Given the description of an element on the screen output the (x, y) to click on. 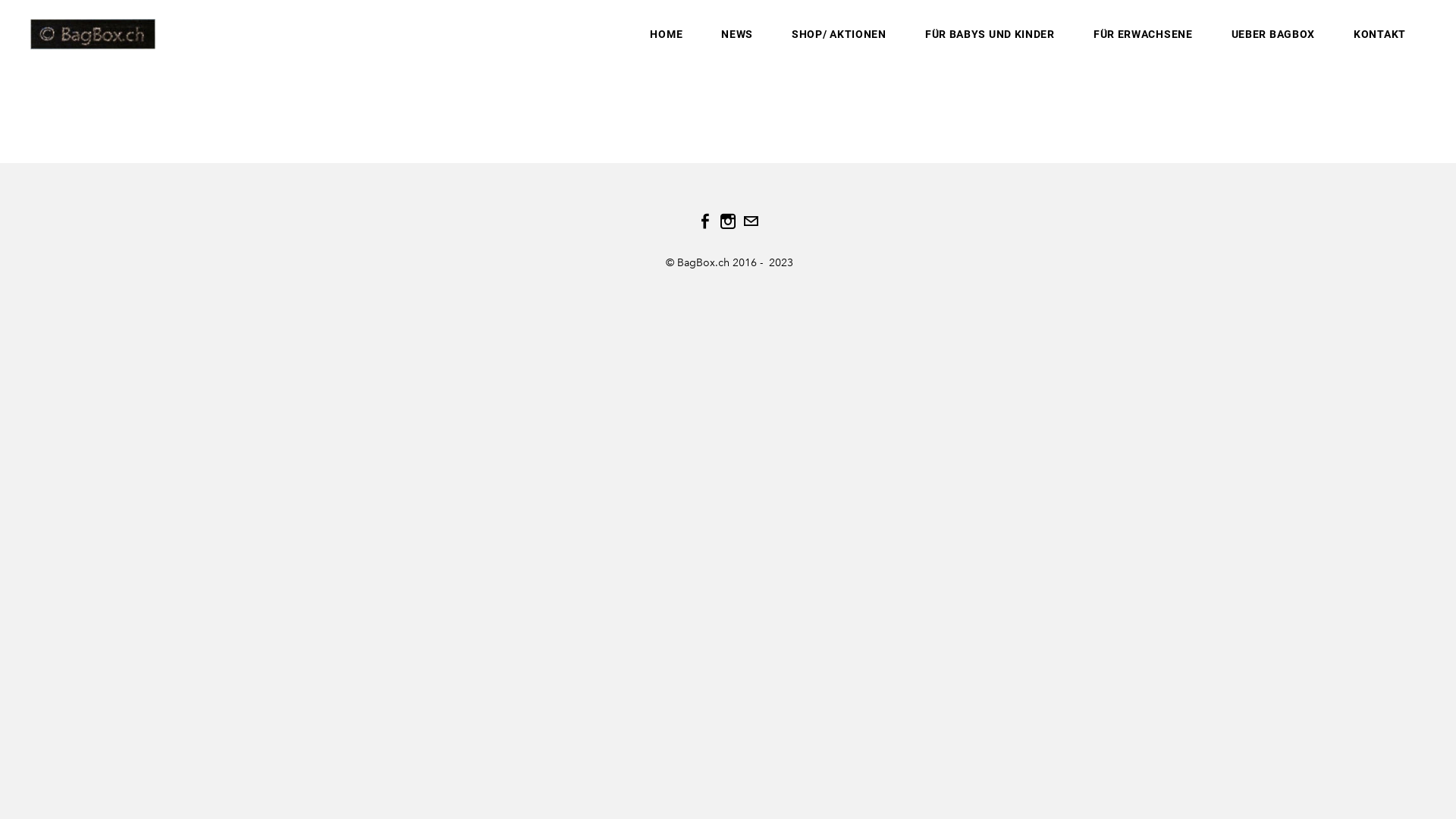
SHOP/ AKTIONEN Element type: text (838, 33)
HOME Element type: text (665, 33)
KONTAKT Element type: text (1379, 33)
NEWS Element type: text (736, 33)
UEBER BAGBOX Element type: text (1272, 33)
